Given the description of an element on the screen output the (x, y) to click on. 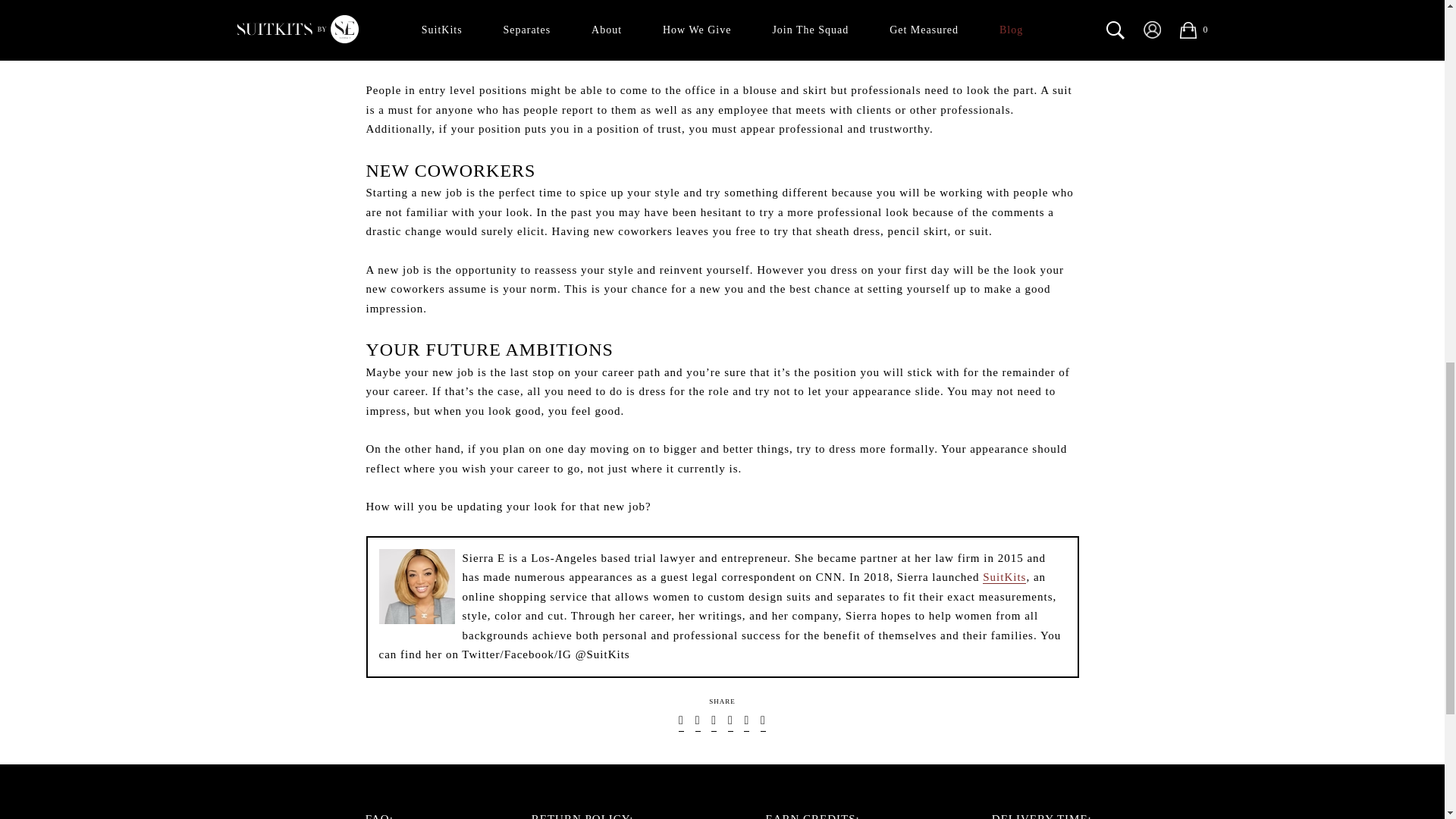
SuitKits (1004, 576)
